Given the description of an element on the screen output the (x, y) to click on. 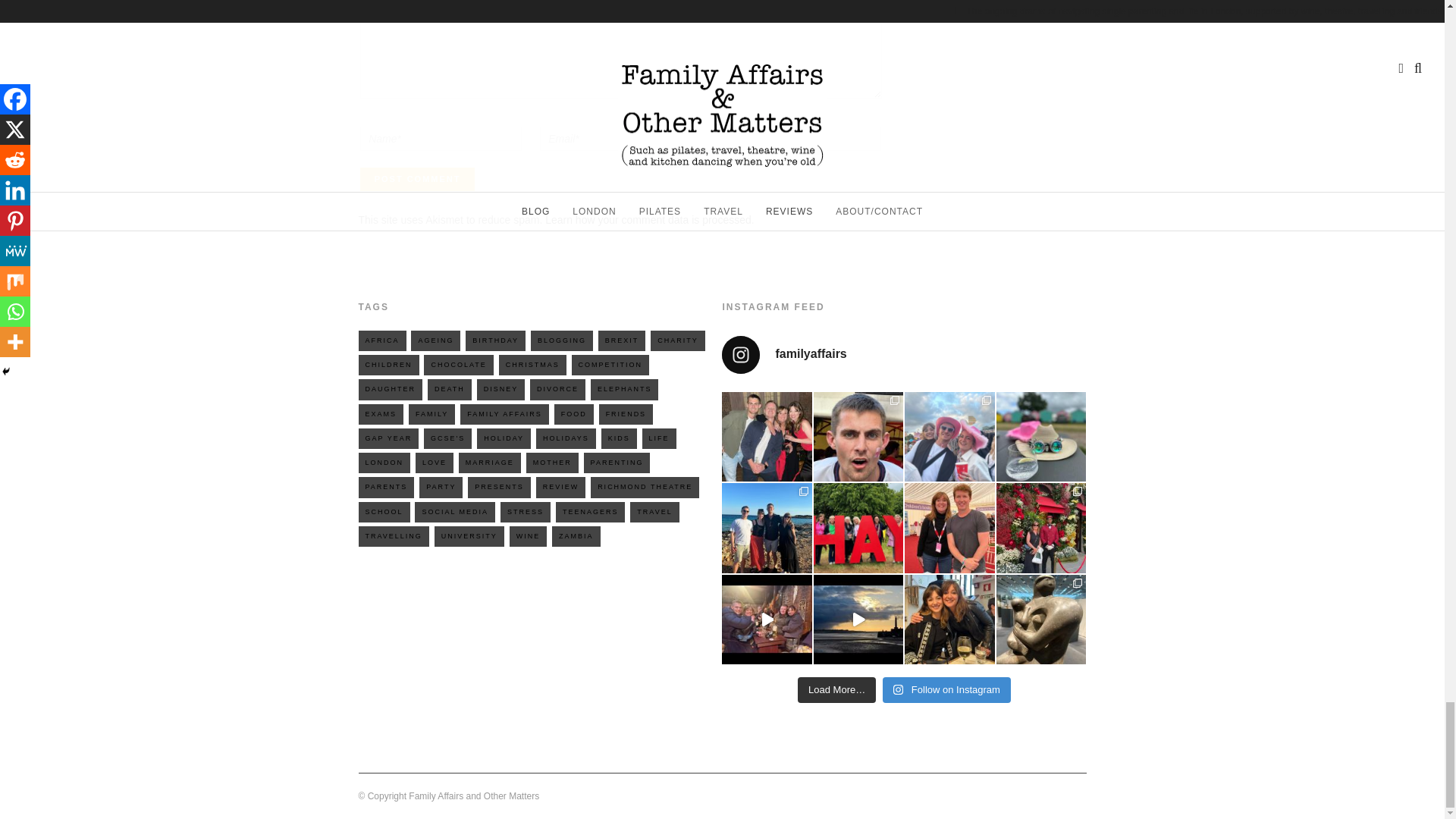
Post Comment (416, 179)
